Given the description of an element on the screen output the (x, y) to click on. 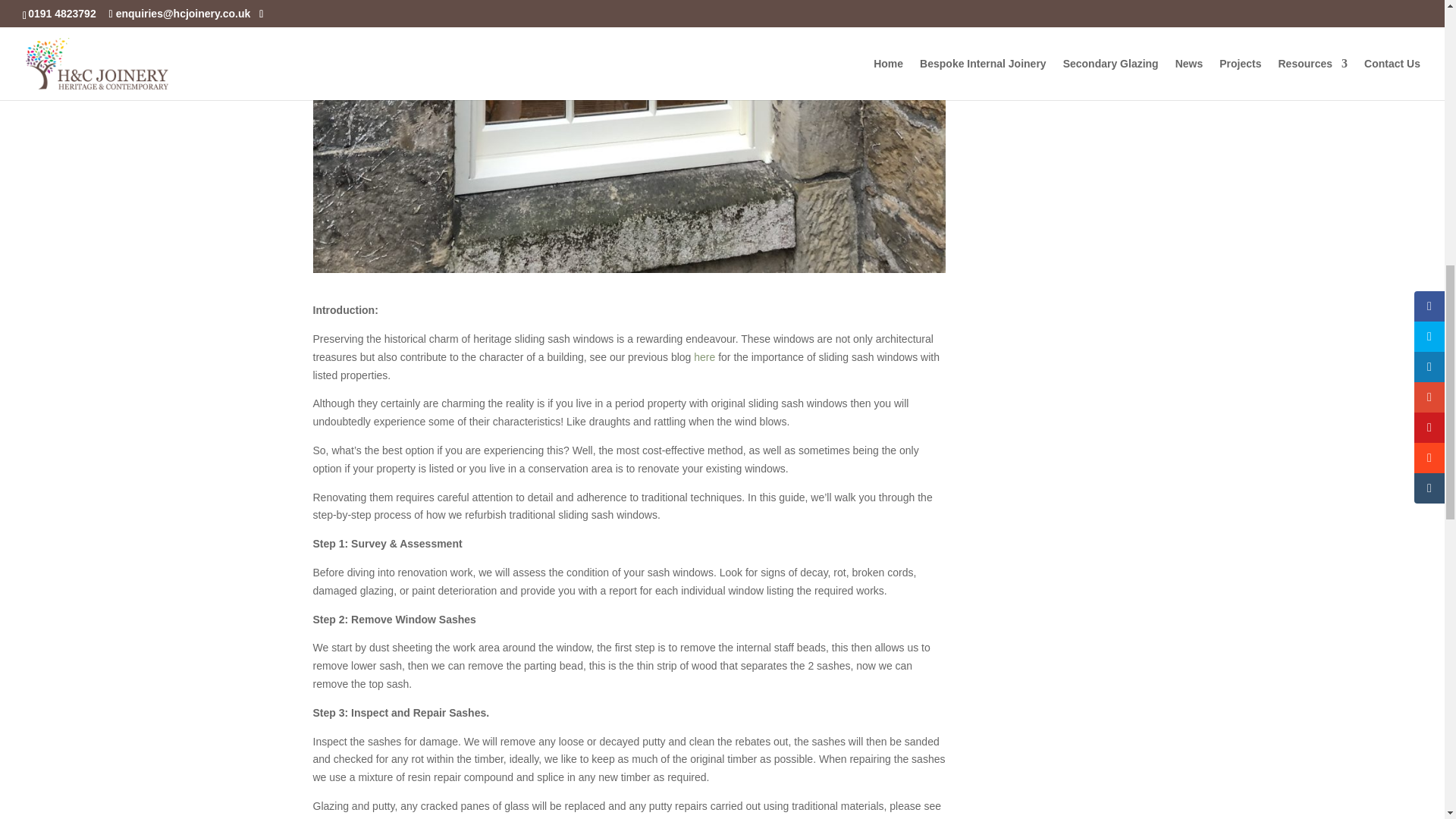
here (704, 357)
